Given the description of an element on the screen output the (x, y) to click on. 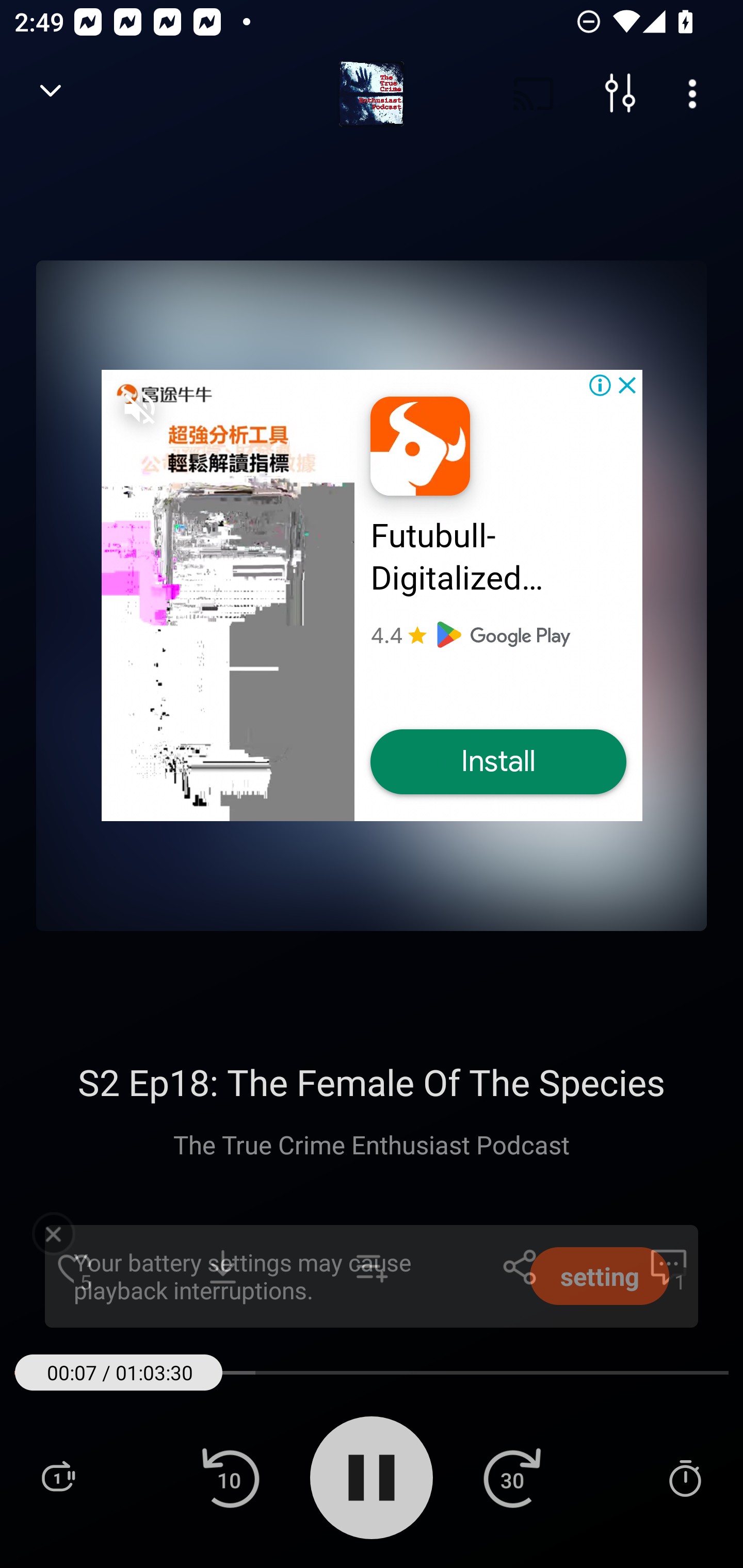
 Back (50, 94)
Futubull-
Digitalized… 4.4 Install Install (371, 595)
Install (498, 762)
S2 Ep18: The Female Of The Species (371, 1081)
The True Crime Enthusiast Podcast (371, 1144)
 Playlist (57, 1477)
Sleep Timer  (684, 1477)
